Given the description of an element on the screen output the (x, y) to click on. 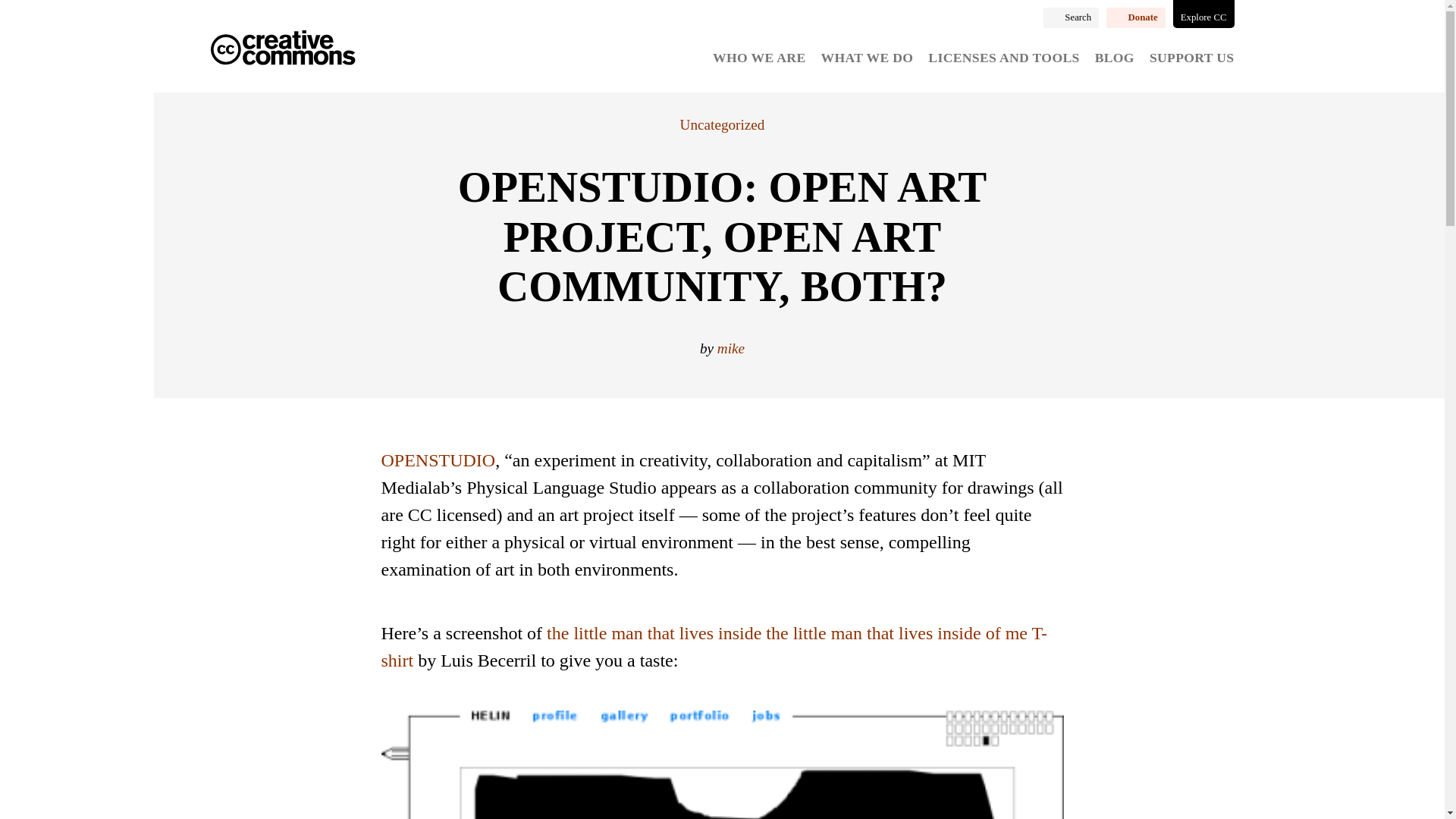
BLOG (1114, 57)
Explore CC (1203, 13)
Uncategorized (722, 124)
Search (1071, 17)
mike (730, 348)
SUPPORT US (1192, 57)
Donate (1136, 17)
WHAT WE DO (867, 57)
OPENSTUDIO (437, 460)
